Given the description of an element on the screen output the (x, y) to click on. 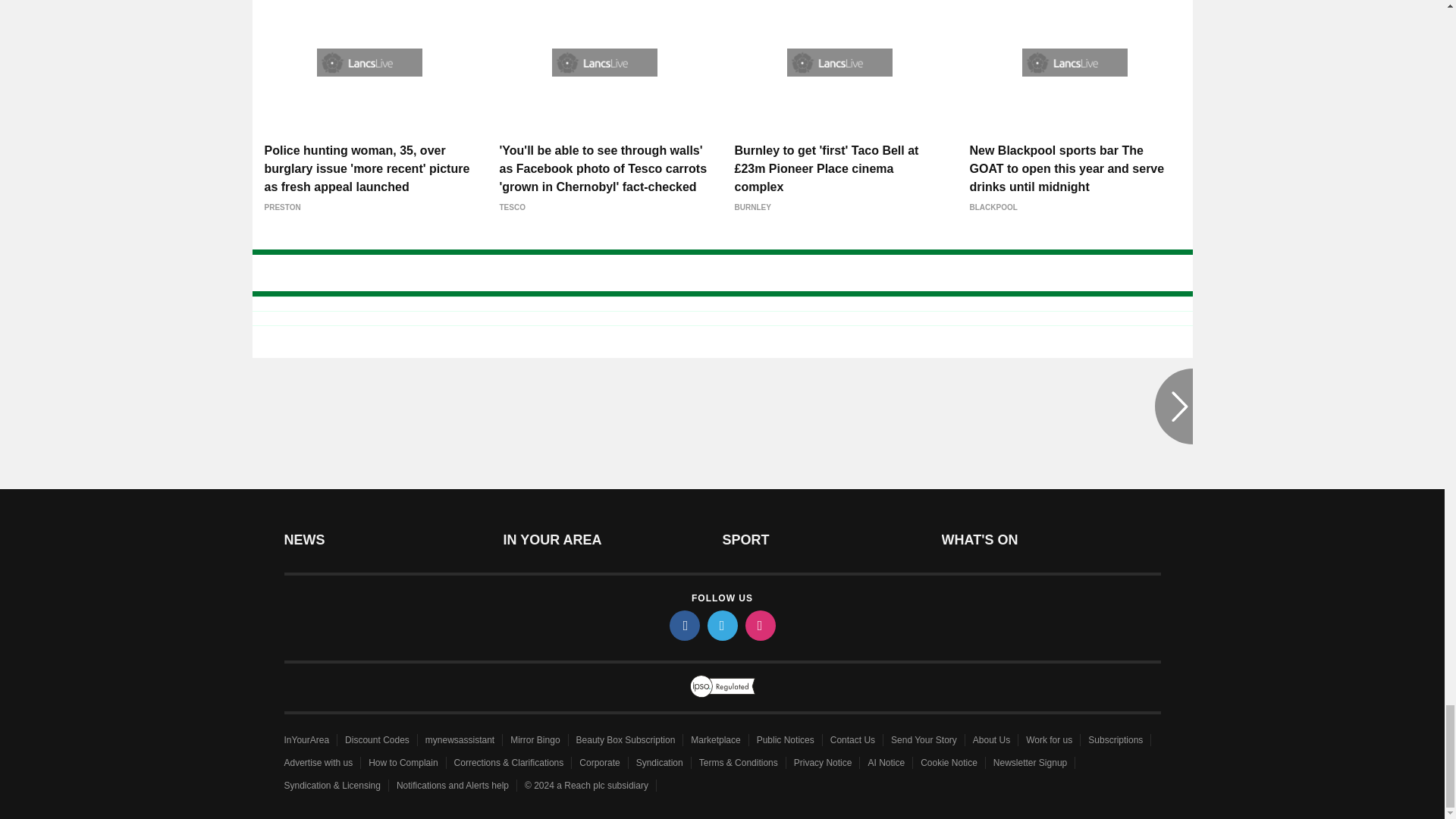
instagram (759, 625)
twitter (721, 625)
facebook (683, 625)
